Given the description of an element on the screen output the (x, y) to click on. 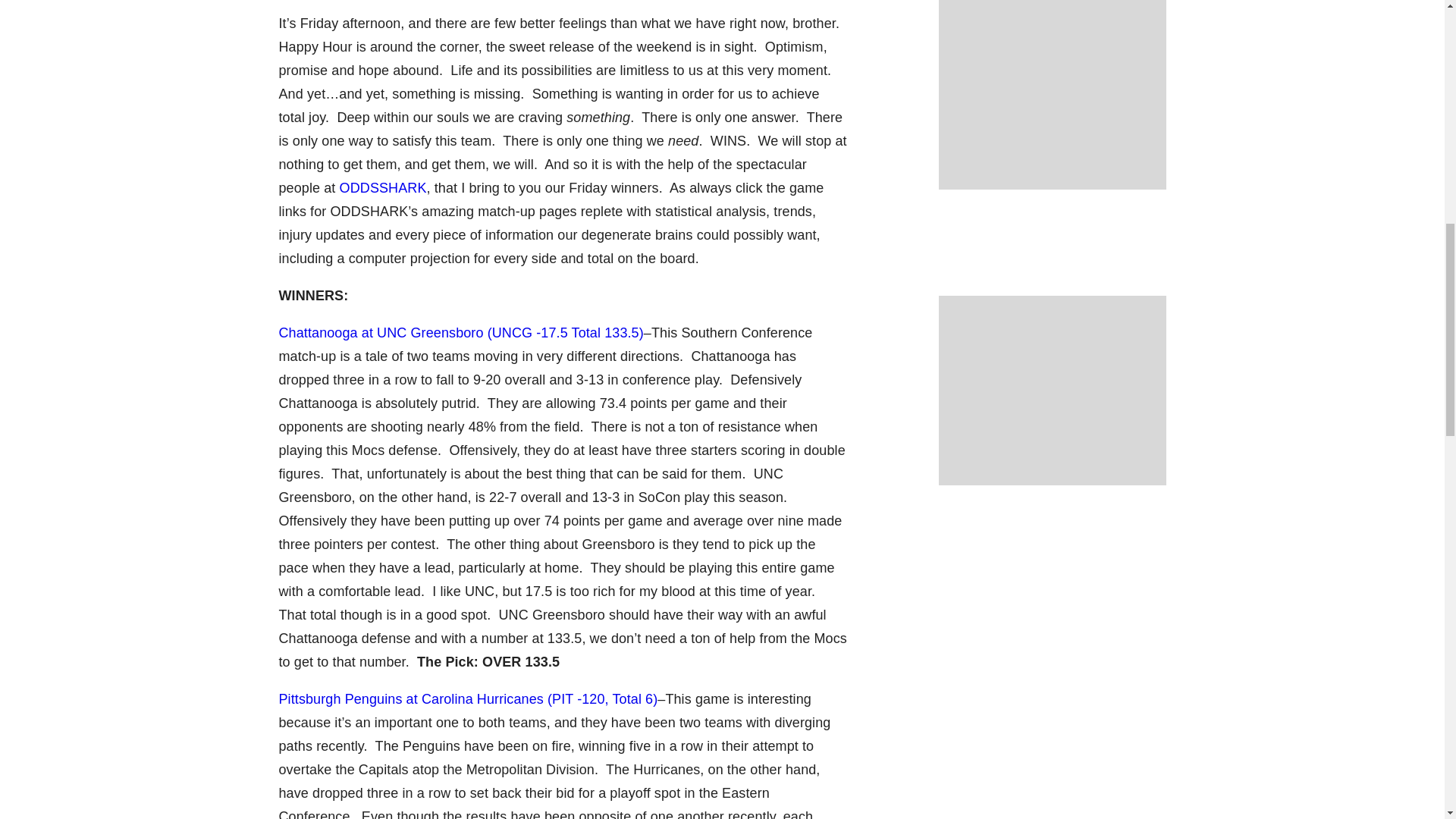
ODDSSHARK (382, 187)
